Given the description of an element on the screen output the (x, y) to click on. 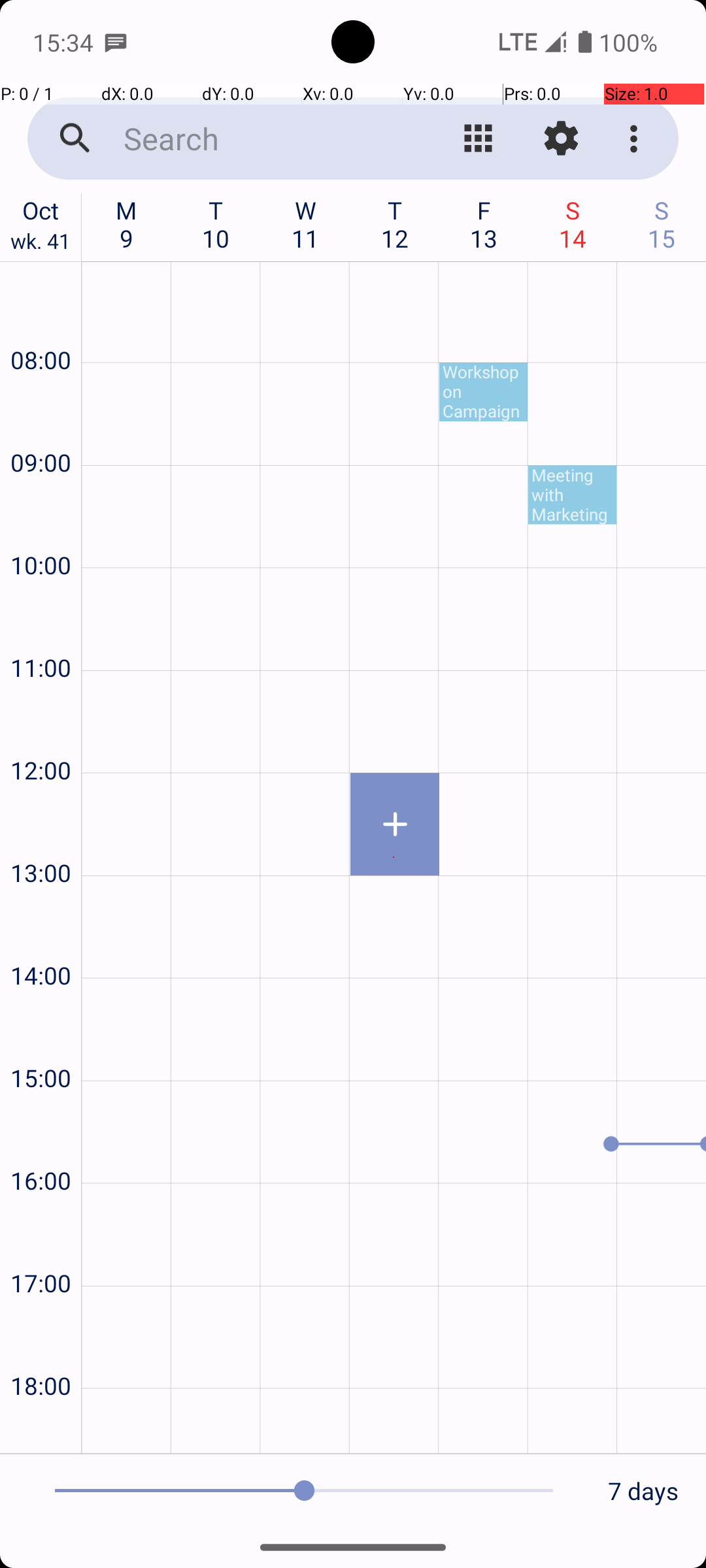
wk. 41 Element type: android.widget.TextView (40, 243)
7 days Element type: android.widget.TextView (642, 1490)
08:00 Element type: android.widget.TextView (40, 324)
10:00 Element type: android.widget.TextView (40, 529)
11:00 Element type: android.widget.TextView (40, 632)
12:00 Element type: android.widget.TextView (40, 735)
14:00 Element type: android.widget.TextView (40, 940)
15:00 Element type: android.widget.TextView (40, 1042)
18:00 Element type: android.widget.TextView (40, 1350)
19:00 Element type: android.widget.TextView (40, 1428)
M
9 Element type: android.widget.TextView (126, 223)
T
10 Element type: android.widget.TextView (215, 223)
W
11 Element type: android.widget.TextView (305, 223)
T
12 Element type: android.widget.TextView (394, 223)
F
13 Element type: android.widget.TextView (483, 223)
S
14 Element type: android.widget.TextView (572, 223)
S
15 Element type: android.widget.TextView (661, 223)
Workshop on Campaign Element type: android.widget.TextView (483, 391)
Meeting with Marketing Element type: android.widget.TextView (572, 494)
